Given the description of an element on the screen output the (x, y) to click on. 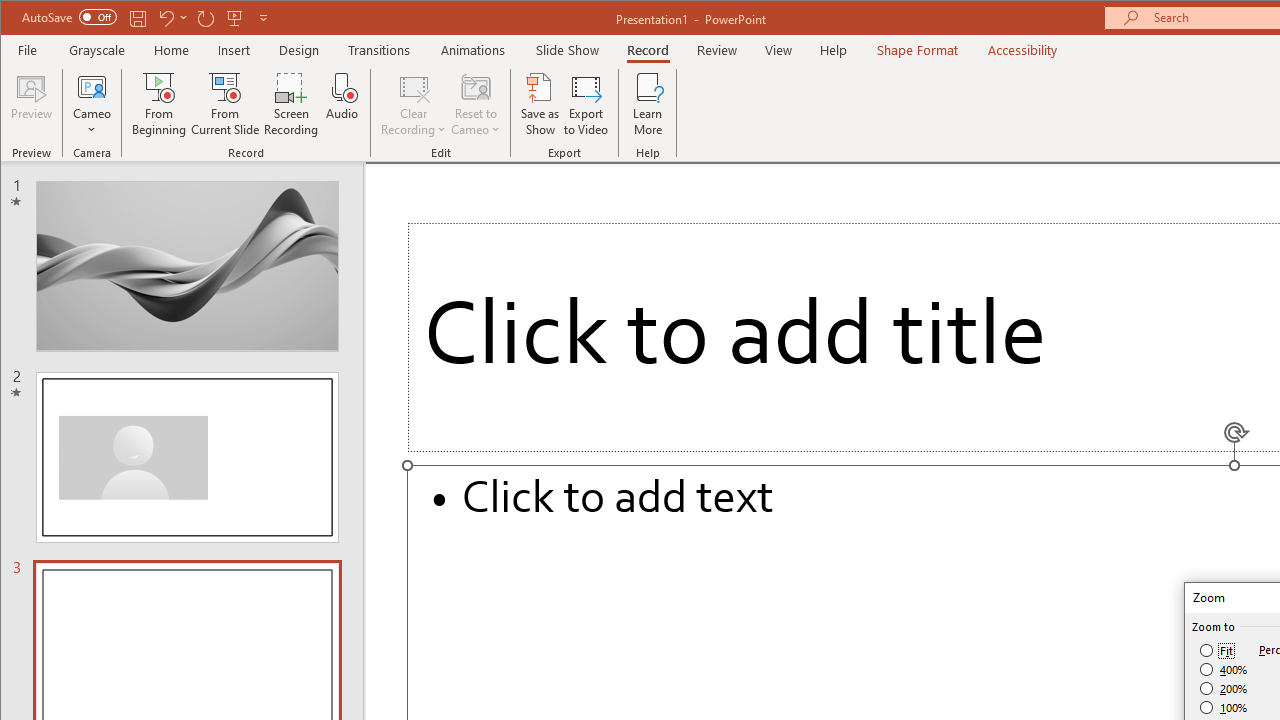
Clear Recording (413, 104)
Grayscale (97, 50)
Save as Show (539, 104)
100% (1224, 707)
